Given the description of an element on the screen output the (x, y) to click on. 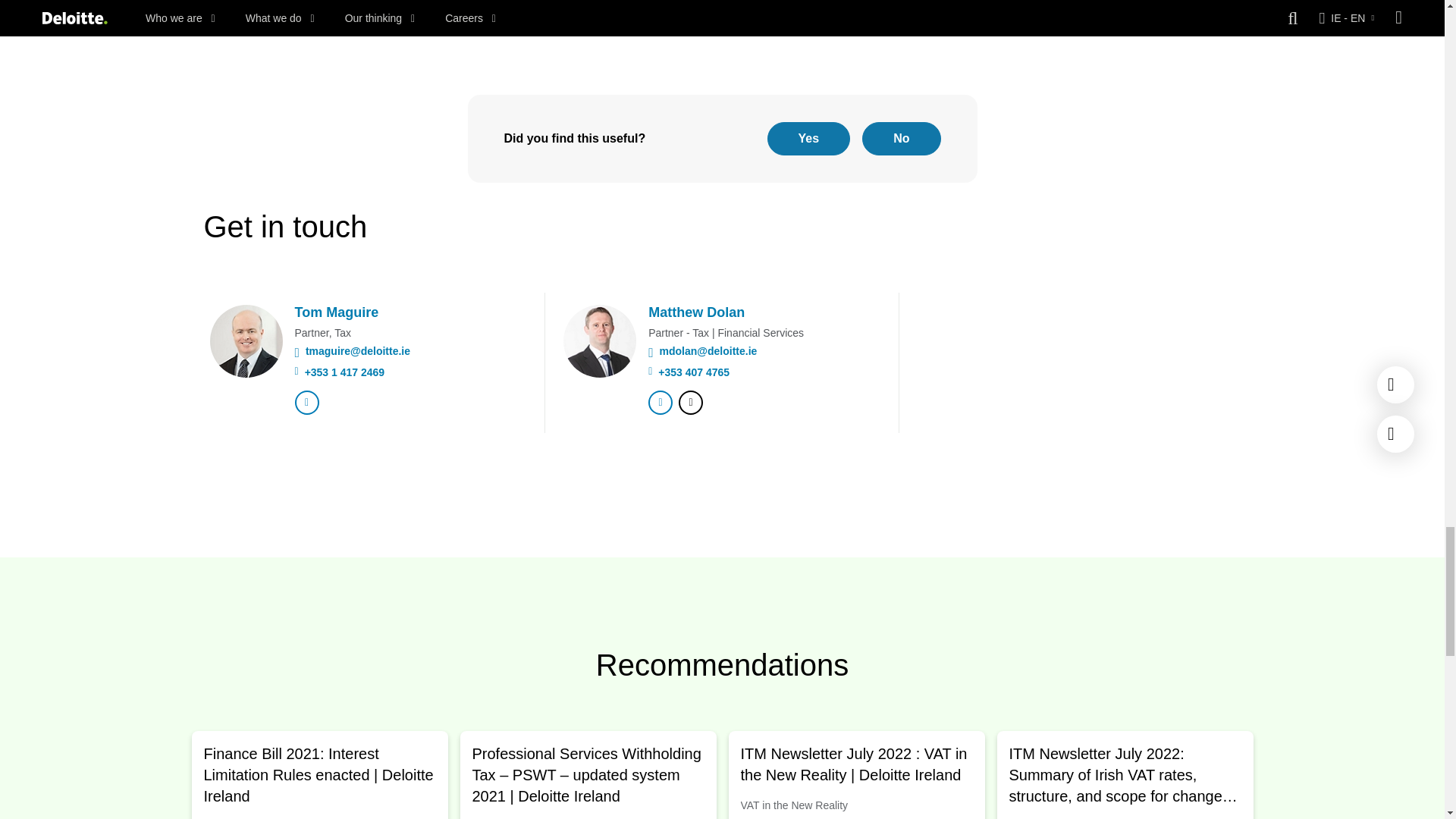
connect via linkedin (306, 401)
connect via X (690, 401)
connect via linkedin (659, 401)
